Given the description of an element on the screen output the (x, y) to click on. 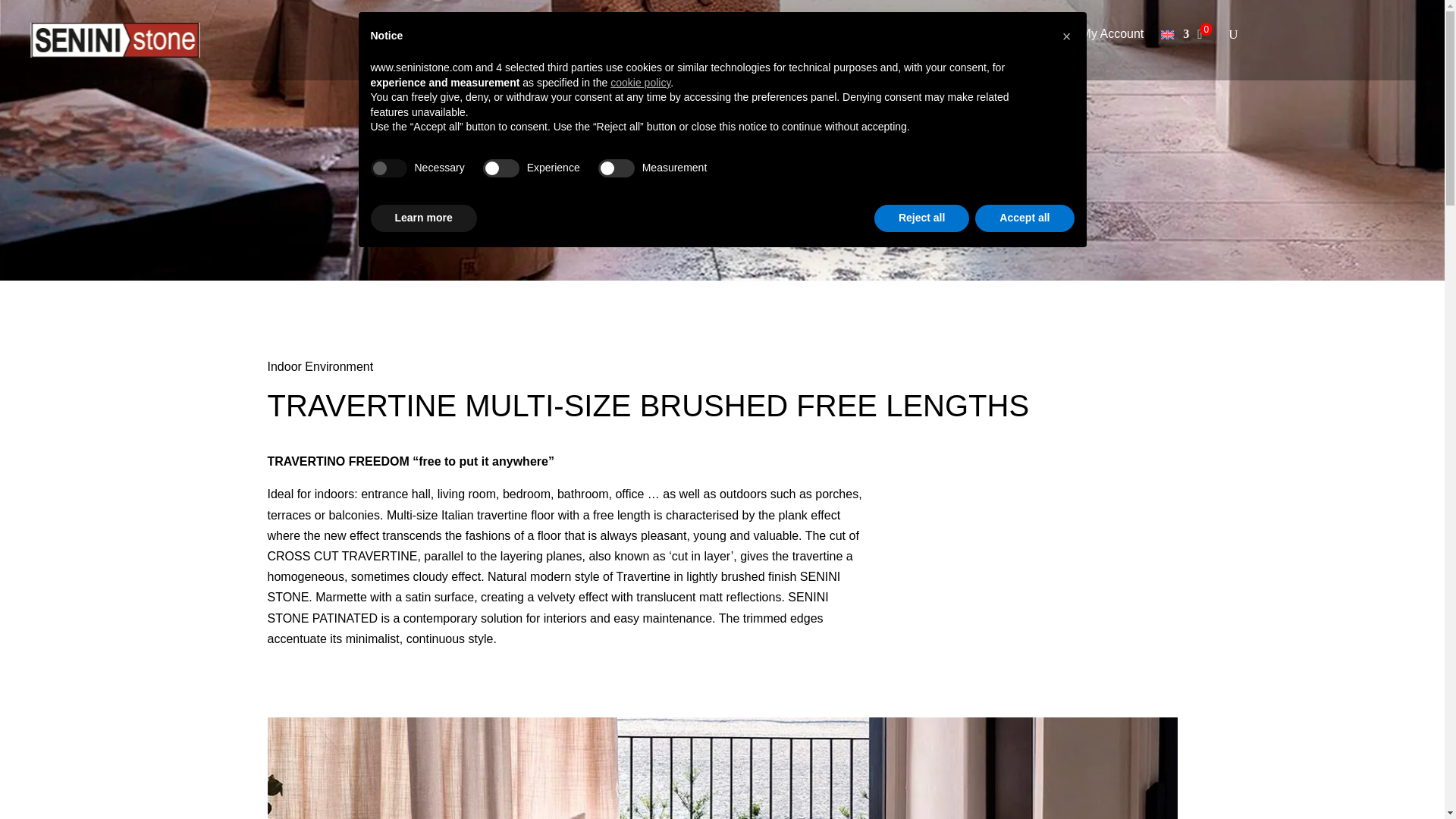
true (387, 167)
false (616, 167)
travertino-freedom-multiformato-patinato-08 (721, 768)
false (501, 167)
